Given the description of an element on the screen output the (x, y) to click on. 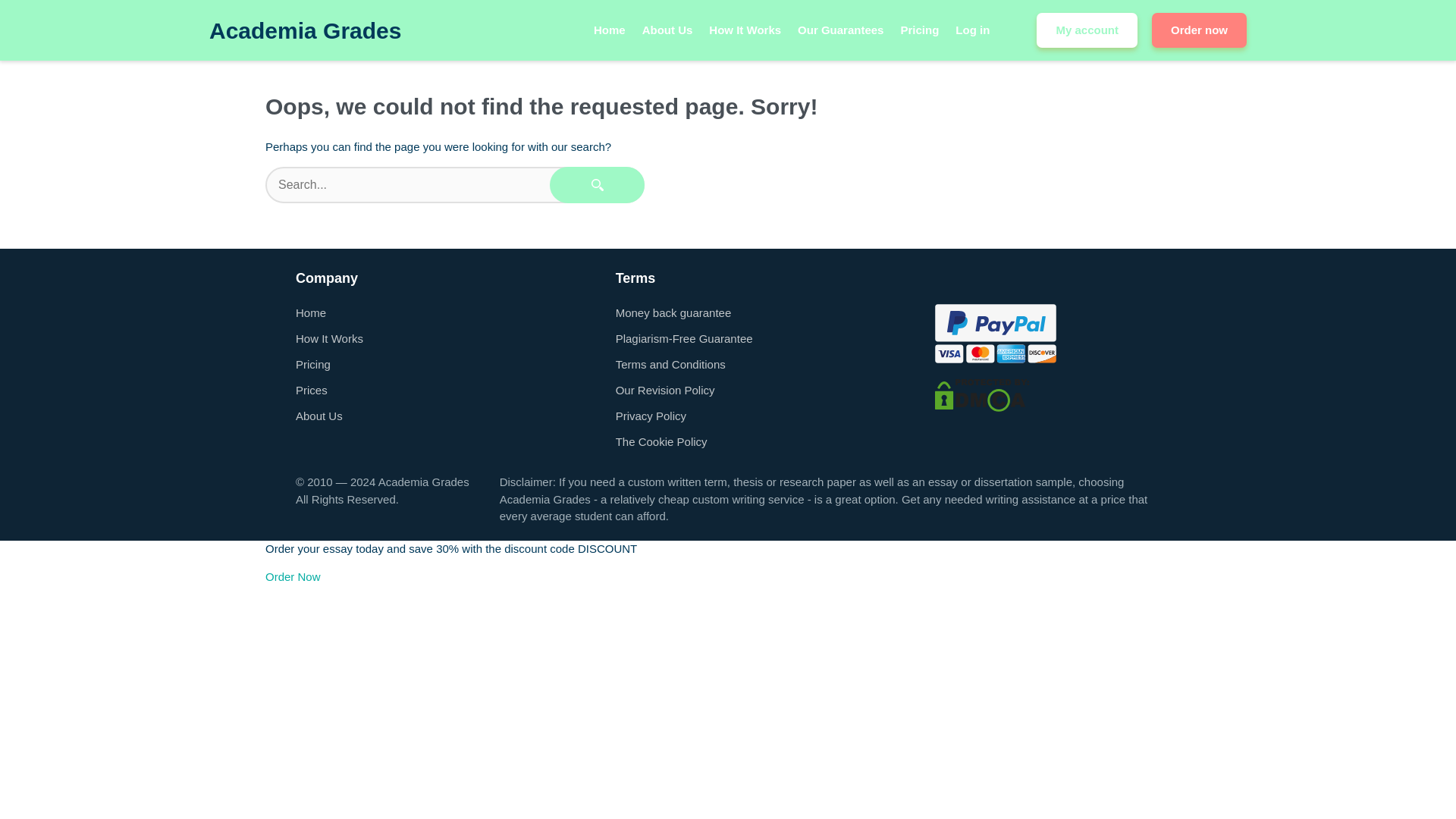
Plagiarism-Free Guarantee (683, 338)
Order Now (292, 576)
How It Works (744, 30)
Privacy Policy (650, 415)
Pricing (312, 364)
Money back guarantee (673, 312)
Our Guarantees (840, 30)
My account (1086, 30)
Order now (1198, 30)
Home (610, 30)
